Given the description of an element on the screen output the (x, y) to click on. 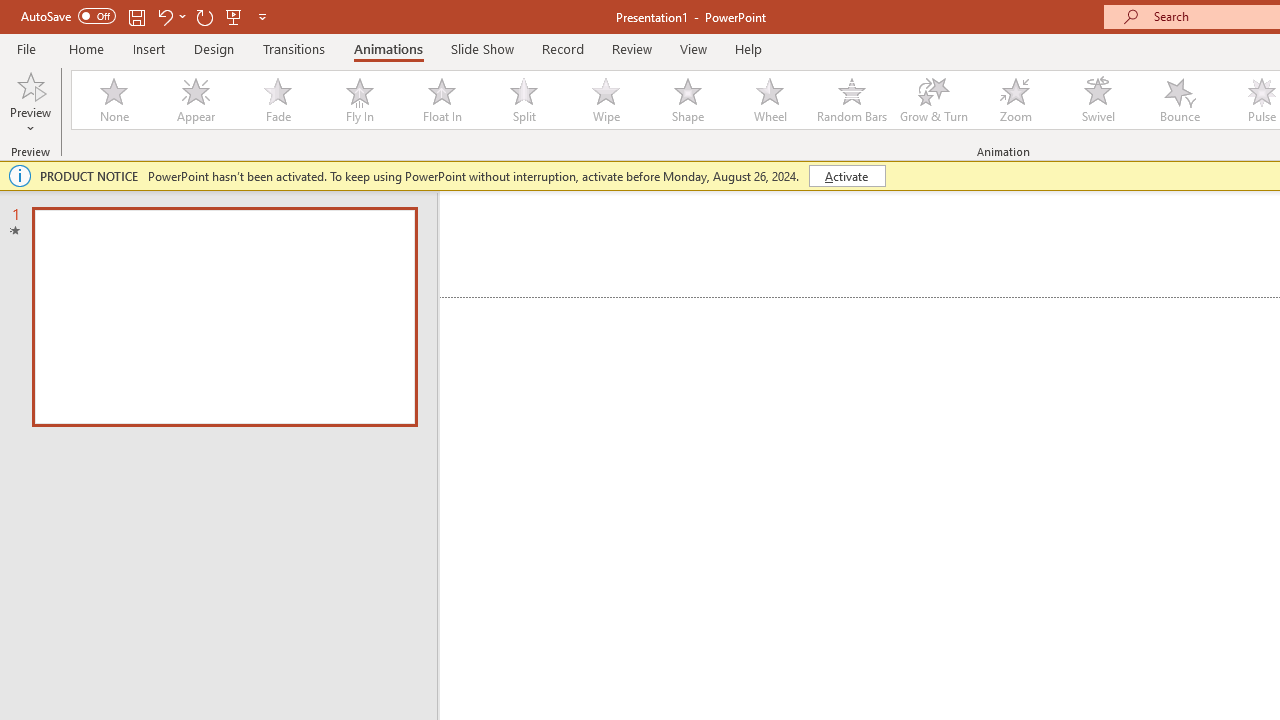
Fly In (359, 100)
Activate (846, 175)
Shape (687, 100)
Float In (441, 100)
